Given the description of an element on the screen output the (x, y) to click on. 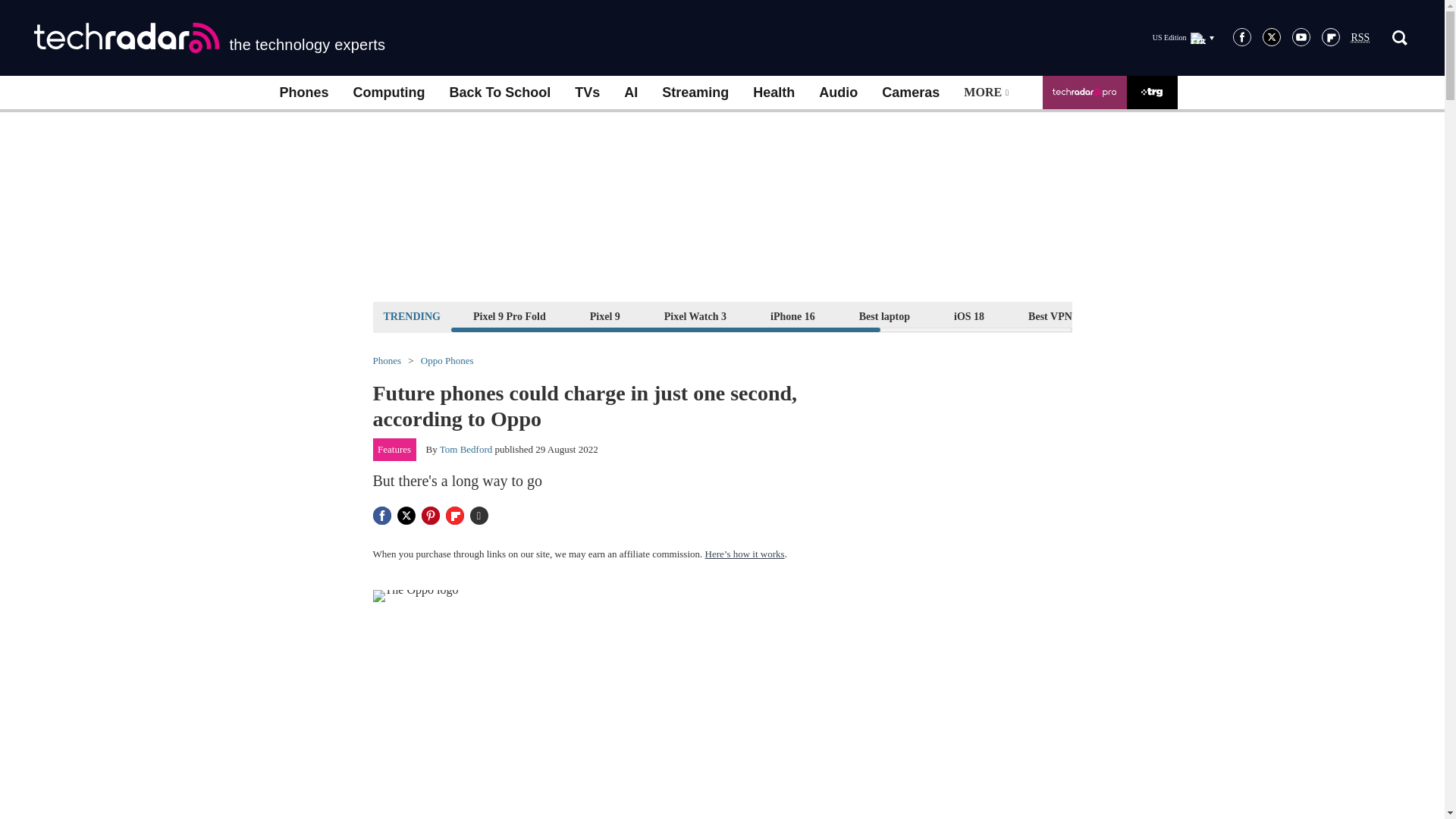
Back To School (499, 92)
Really Simple Syndication (1360, 37)
Streaming (695, 92)
Phones (303, 92)
Computing (389, 92)
TVs (586, 92)
Audio (837, 92)
the technology experts (209, 38)
US Edition (1182, 37)
Health (773, 92)
